Given the description of an element on the screen output the (x, y) to click on. 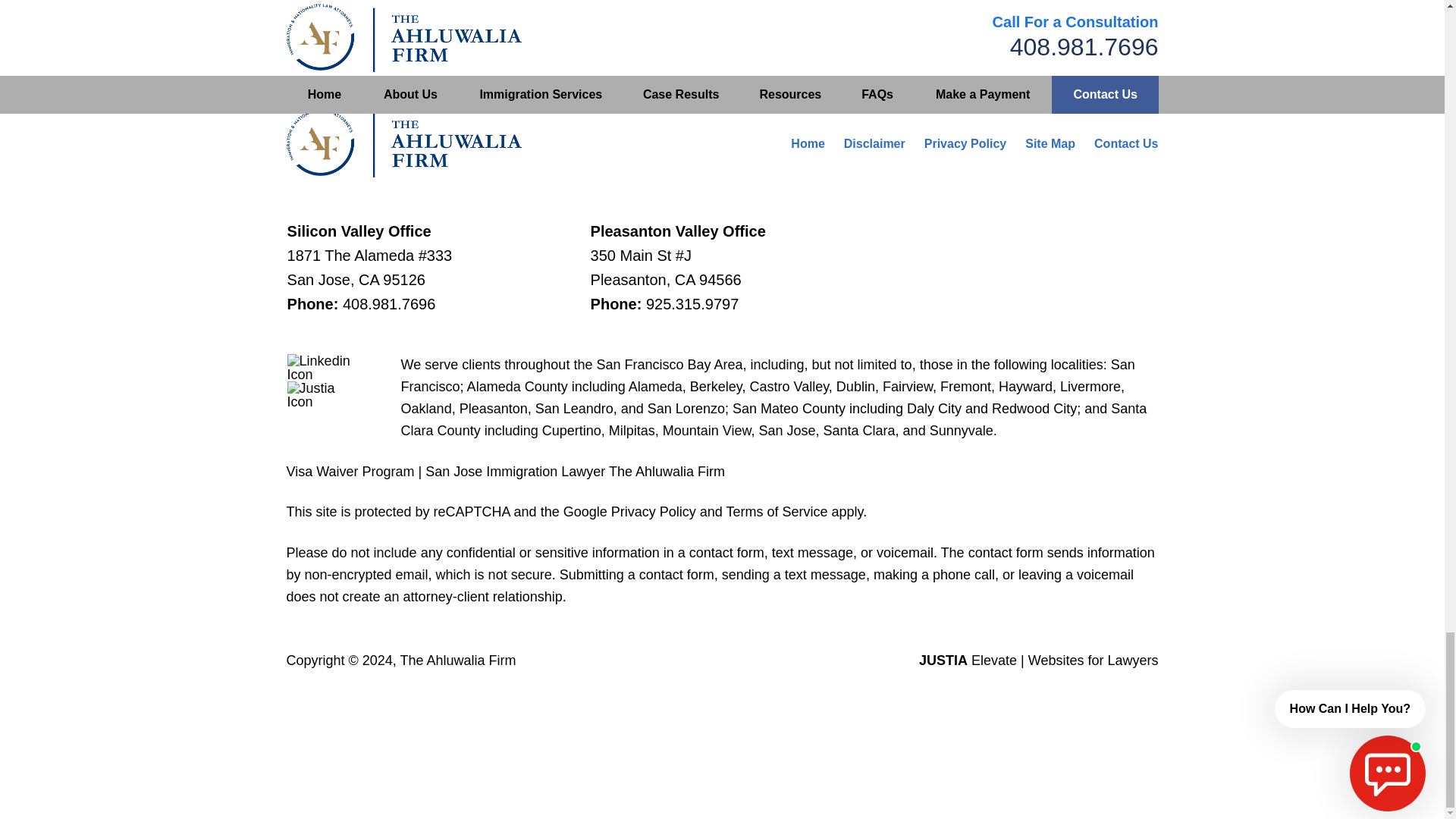
Justia (323, 394)
Linkedin (323, 367)
